Given the description of an element on the screen output the (x, y) to click on. 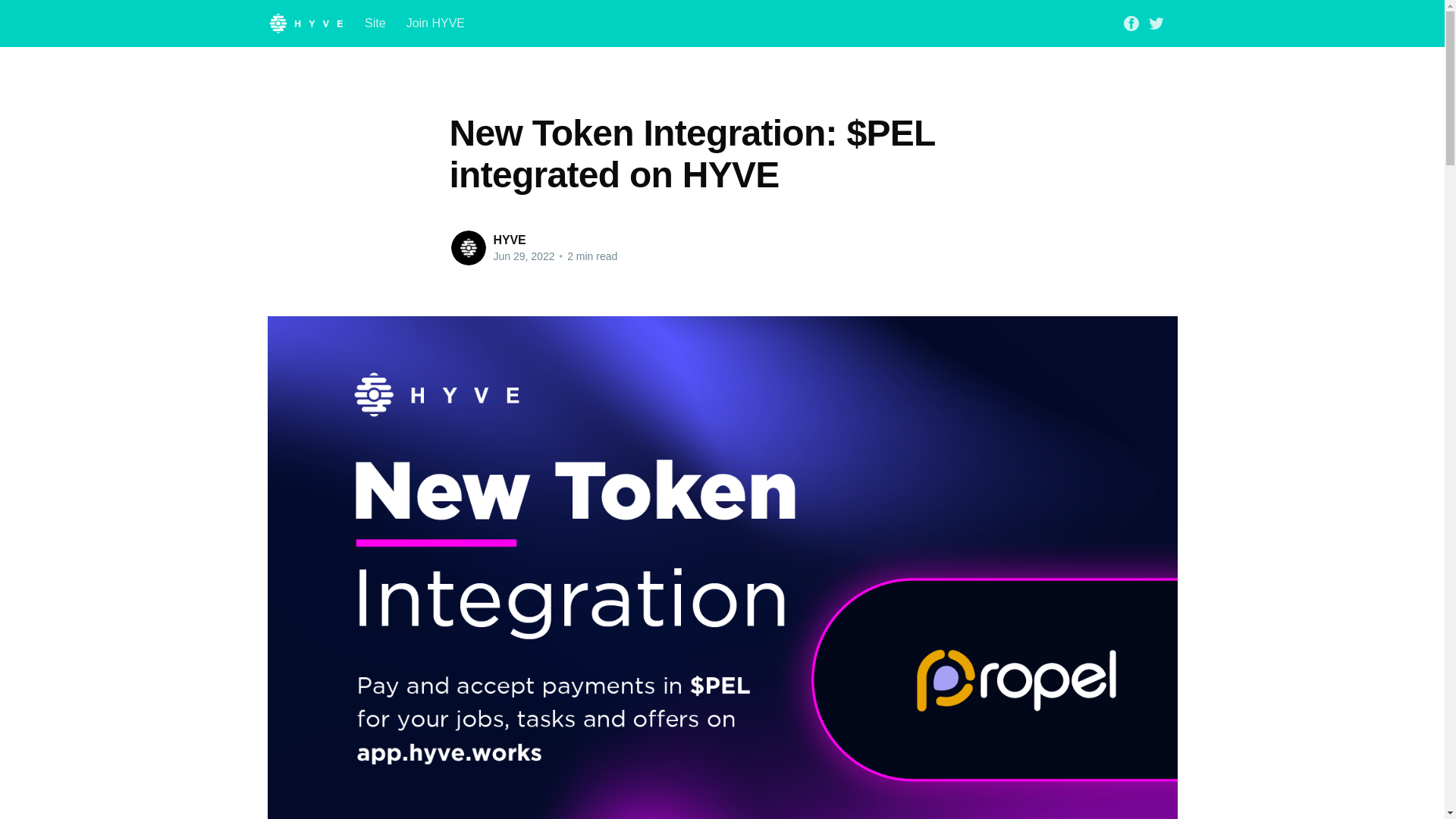
Twitter (1156, 21)
Join HYVE (435, 22)
Facebook (1131, 21)
HYVE (509, 239)
